Given the description of an element on the screen output the (x, y) to click on. 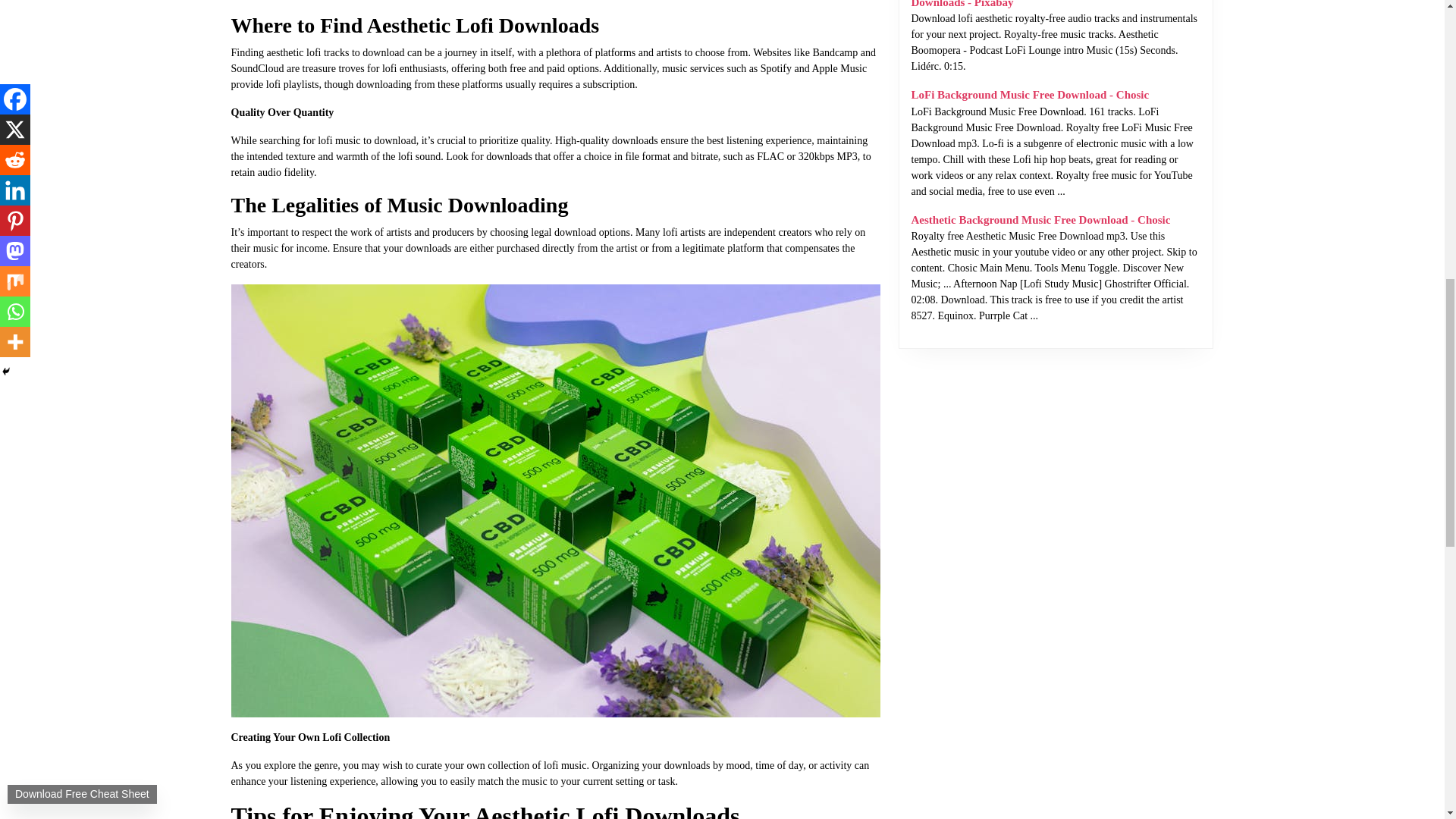
LoFi Background Music Free Download - Chosic (1030, 94)
